Given the description of an element on the screen output the (x, y) to click on. 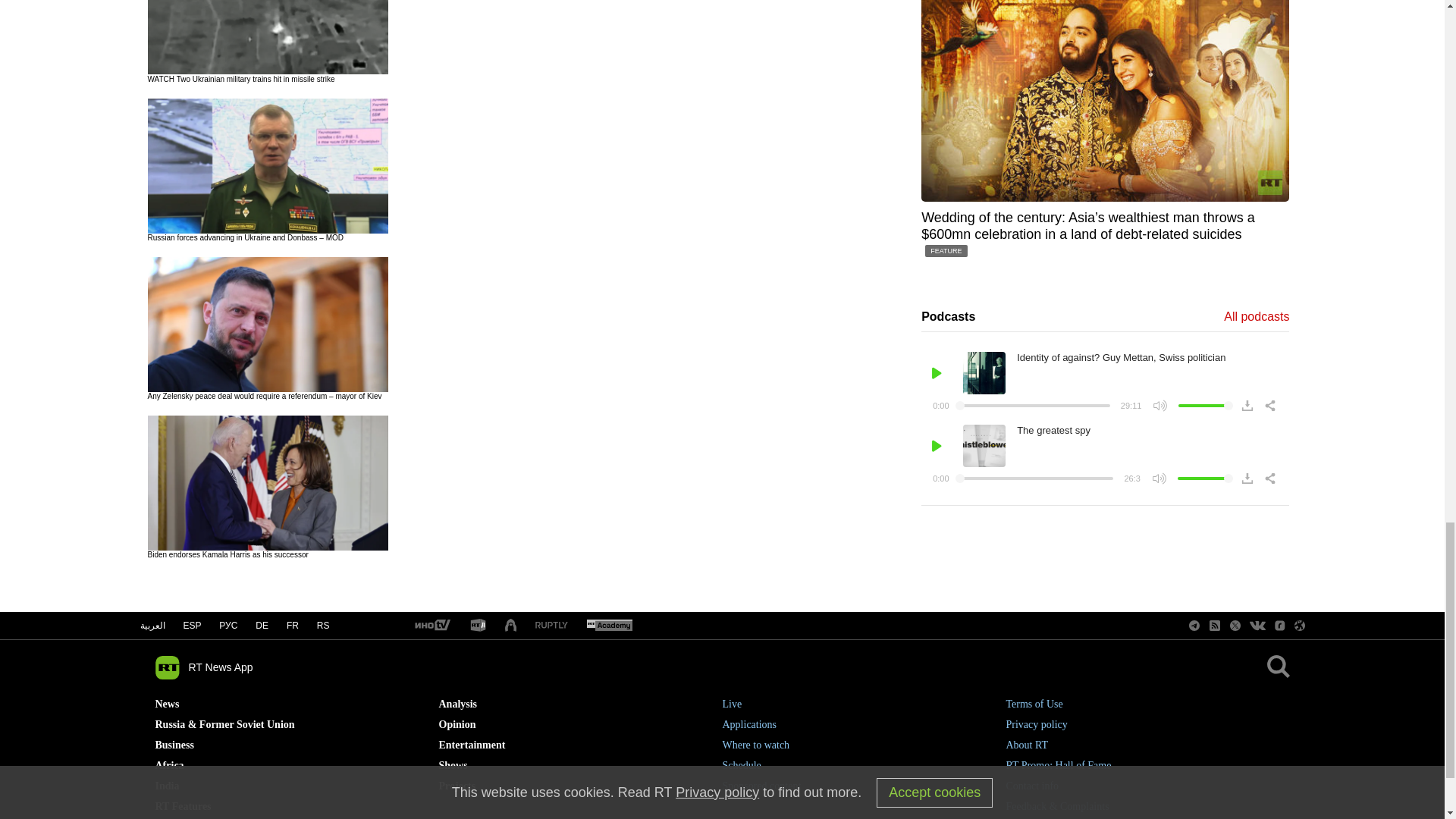
RT  (551, 625)
RT  (431, 625)
RT  (478, 626)
RT  (608, 625)
